Given the description of an element on the screen output the (x, y) to click on. 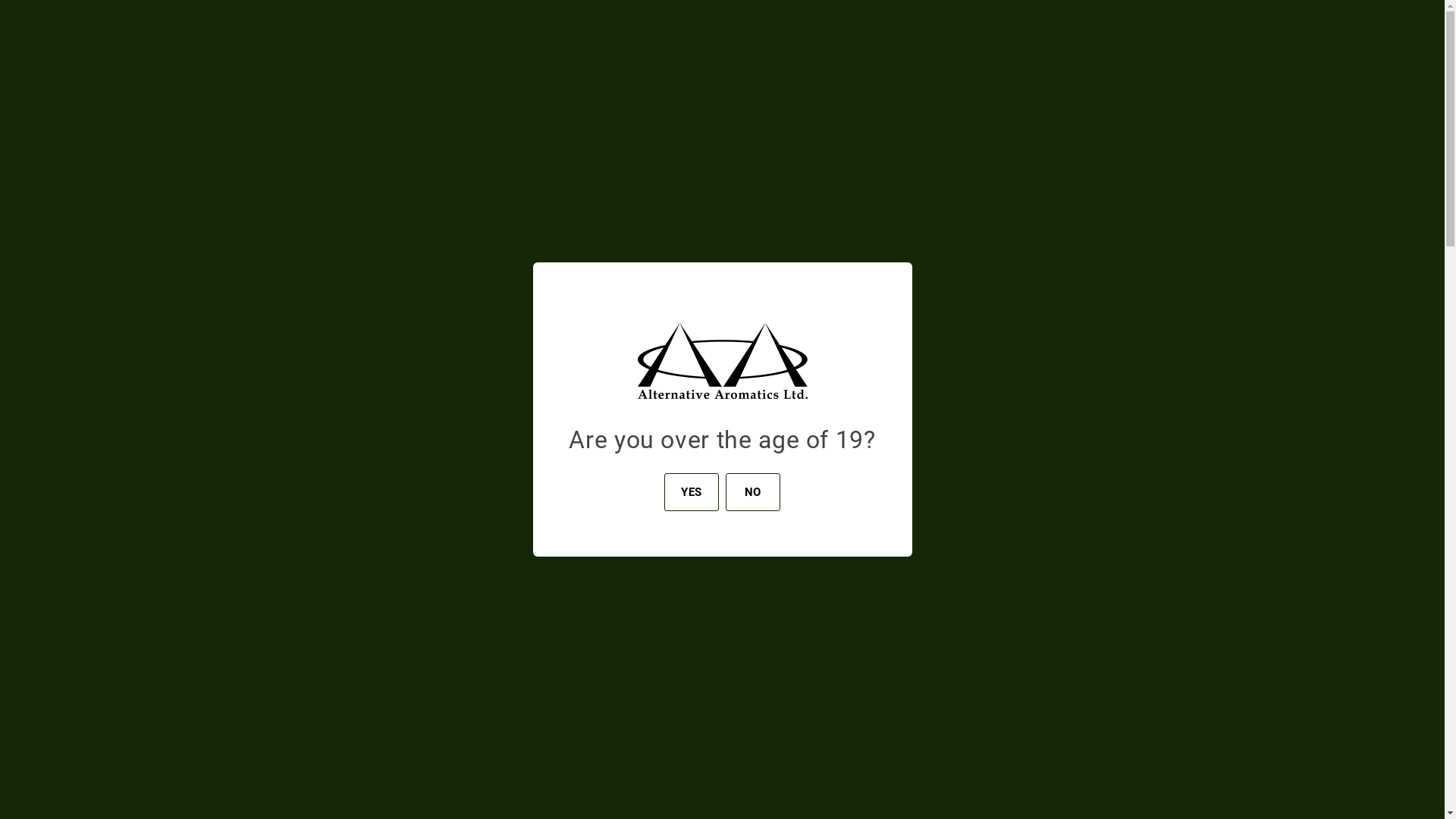
Home Element type: text (792, 40)
Find Us Element type: text (1018, 40)
Contact Us Element type: text (1213, 40)
NO Element type: text (752, 492)
Menu Element type: text (1324, 40)
YES Element type: text (691, 492)
About Us Element type: text (1110, 40)
Cannabis Topics Element type: text (903, 40)
Shop Our Menu Element type: text (218, 122)
